Given the description of an element on the screen output the (x, y) to click on. 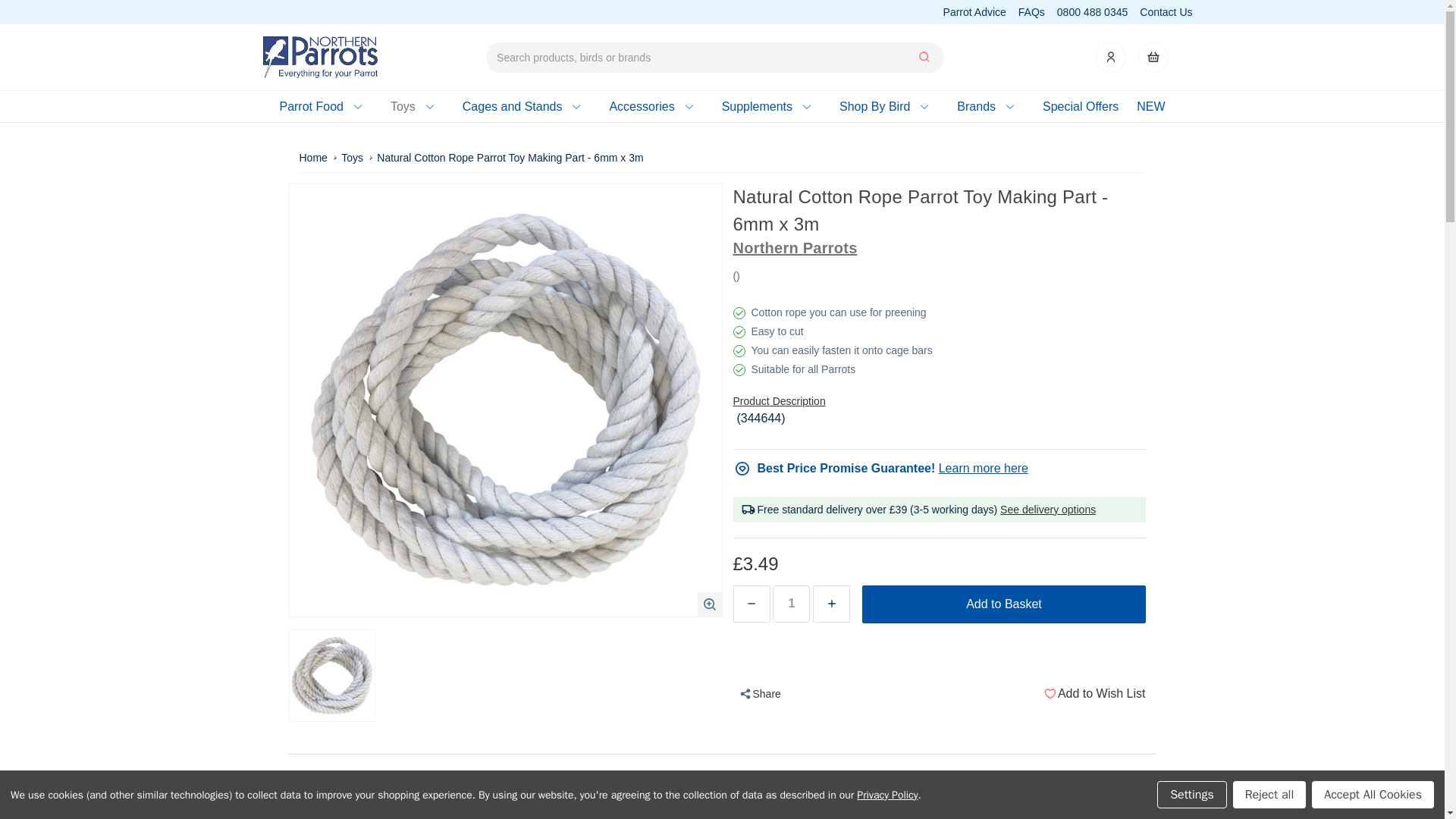
FAQs (1031, 11)
Customer reviews powered by Trustpilot (342, 12)
Add to Basket (1002, 604)
0800 488 0345 (1091, 11)
Parrot Food (324, 106)
Parrot Advice (974, 11)
1 (791, 603)
Contact Us (1166, 11)
Northern Parrots (320, 56)
